Given the description of an element on the screen output the (x, y) to click on. 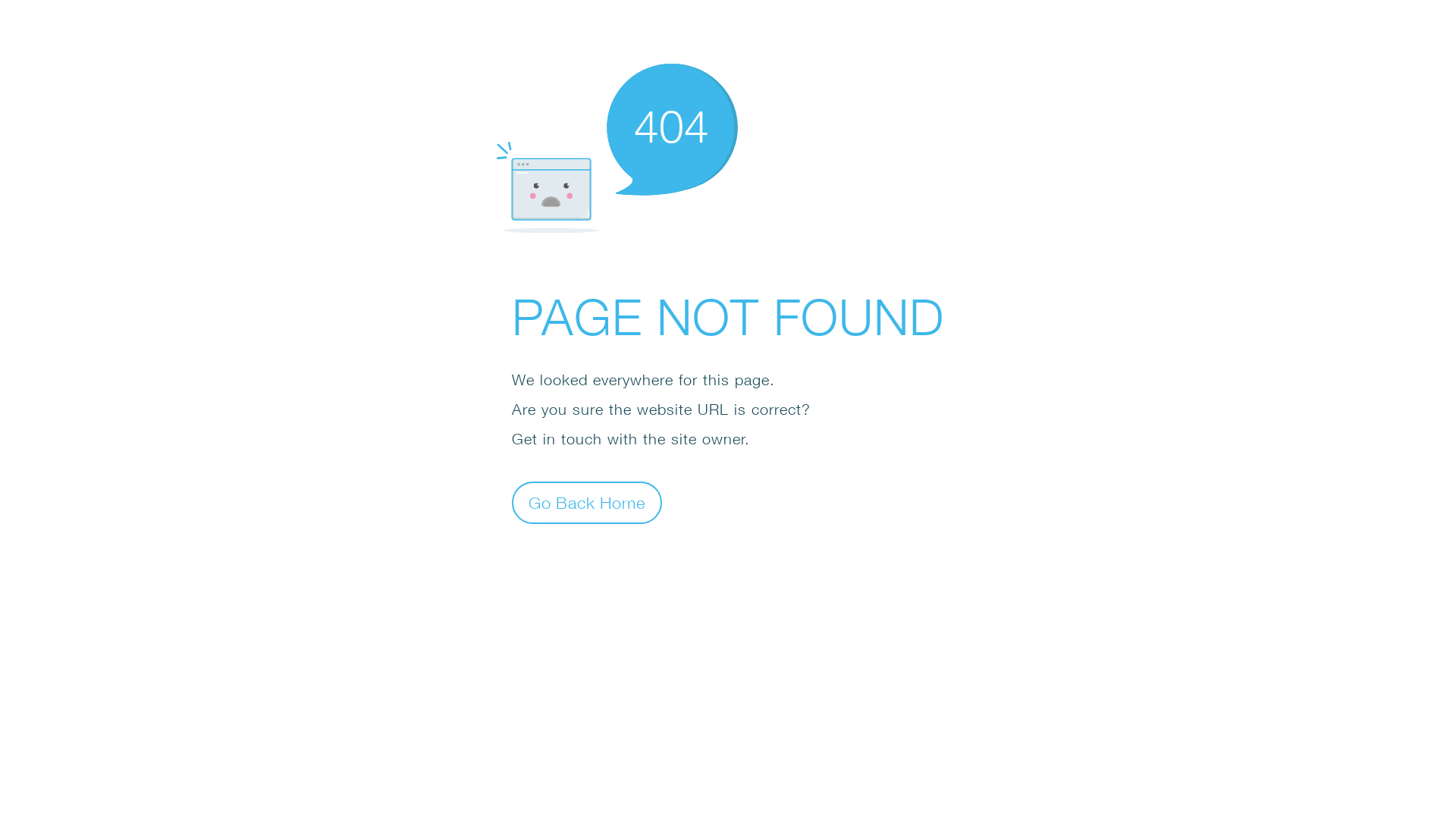
Go Back Home Element type: text (586, 502)
